Given the description of an element on the screen output the (x, y) to click on. 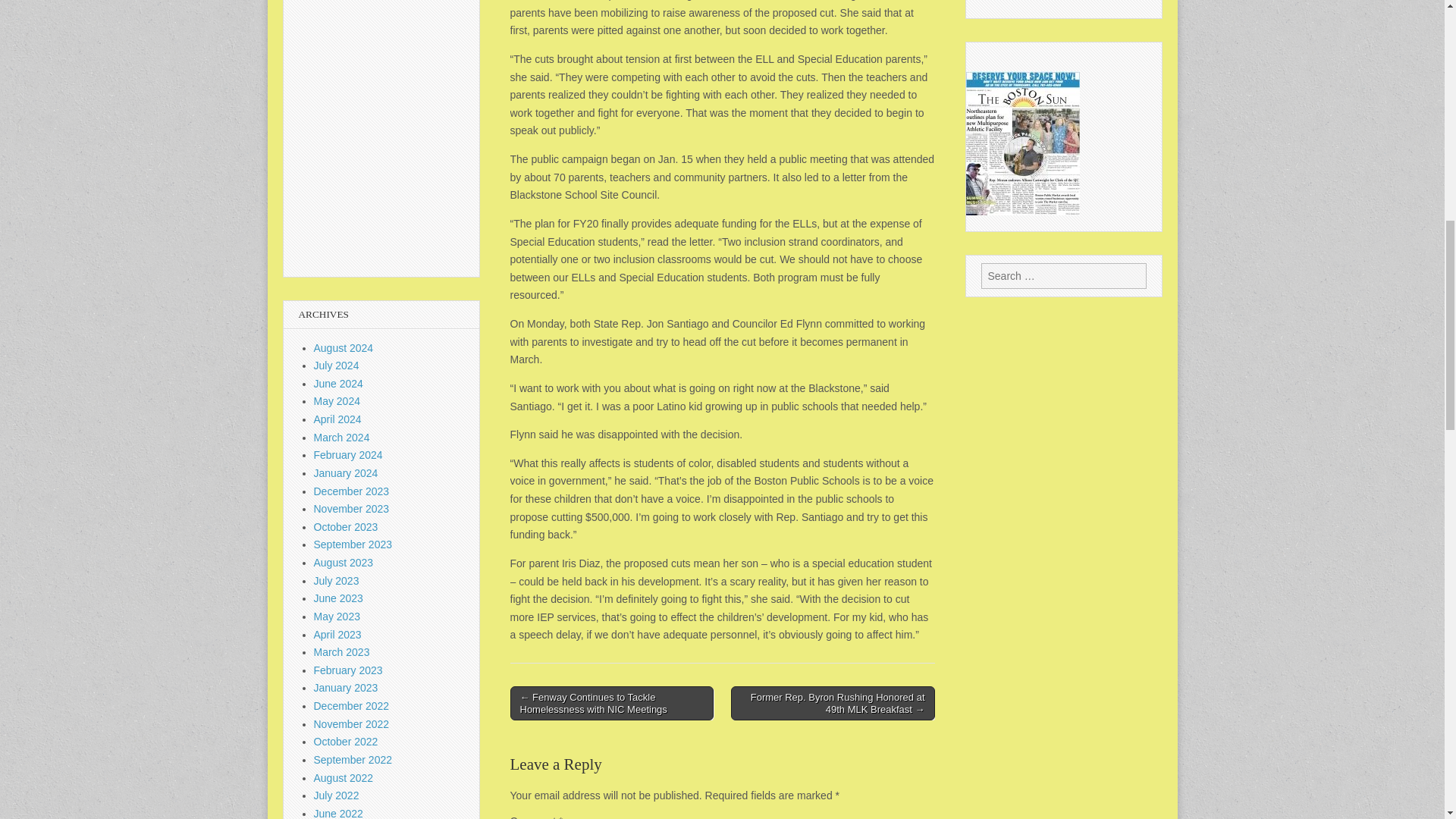
April 2024 (337, 419)
January 2024 (346, 472)
February 2024 (348, 454)
March 2024 (341, 437)
July 2024 (336, 365)
May 2024 (336, 400)
June 2024 (338, 383)
August 2024 (344, 347)
